Given the description of an element on the screen output the (x, y) to click on. 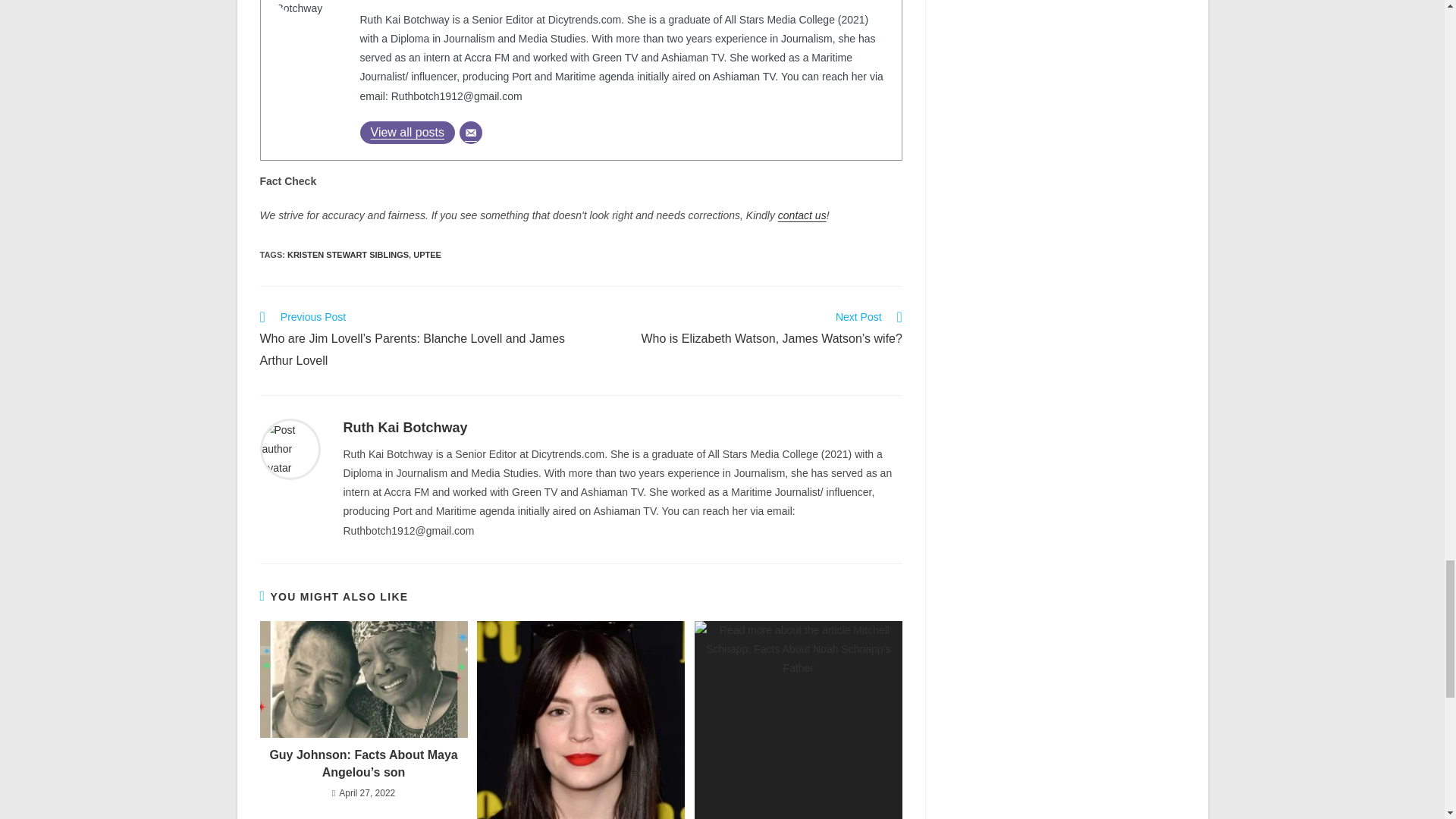
Visit author page (404, 427)
Visit author page (289, 448)
View all posts (406, 132)
